Given the description of an element on the screen output the (x, y) to click on. 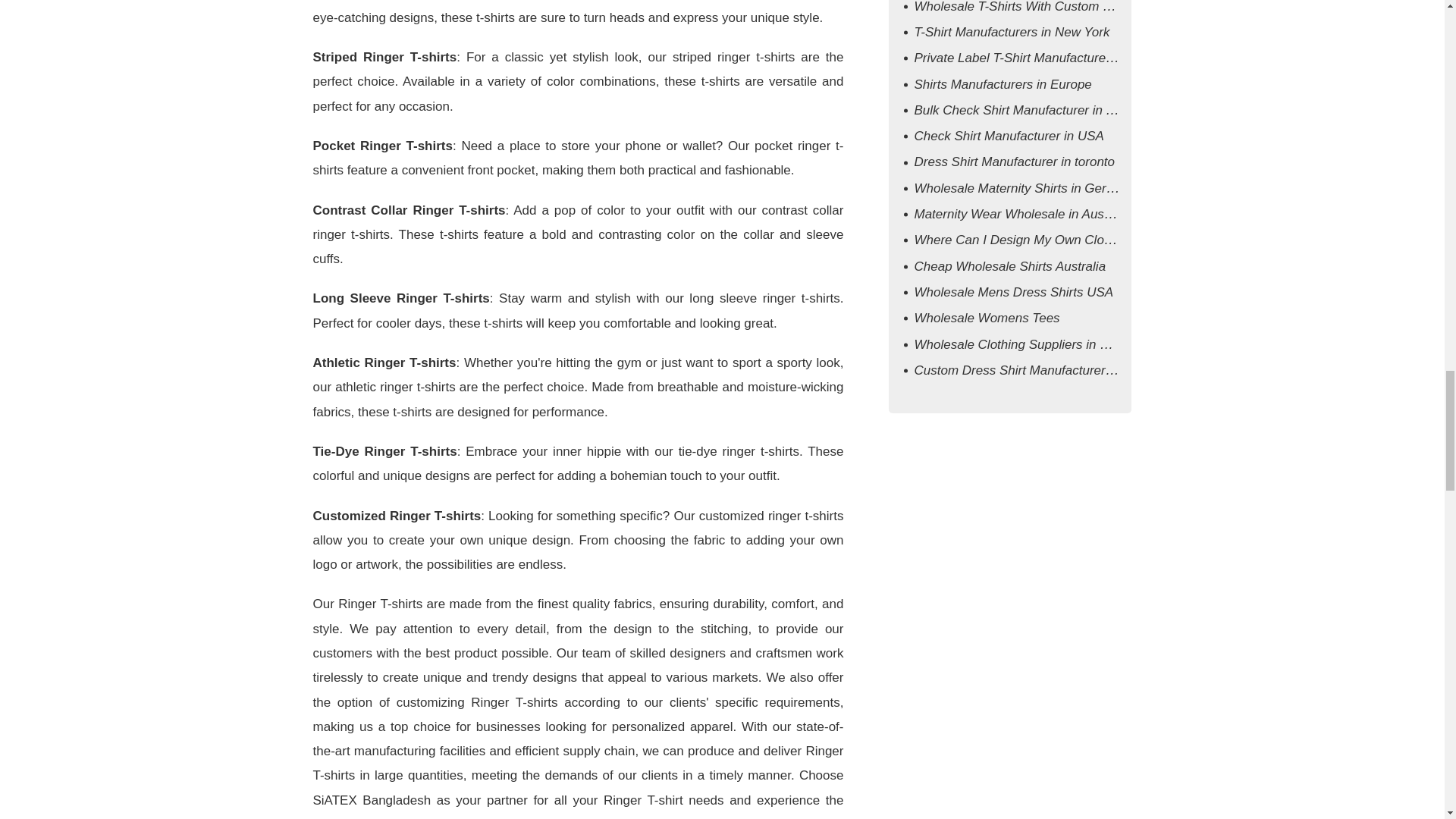
Custom Dress Shirt Manufacturers in Marrakech (1051, 369)
Check Shirt Manufacturer in USA (1008, 135)
Dress Shirt Manufacturer in toronto (1014, 161)
Wholesale Womens Tees (986, 318)
